Given the description of an element on the screen output the (x, y) to click on. 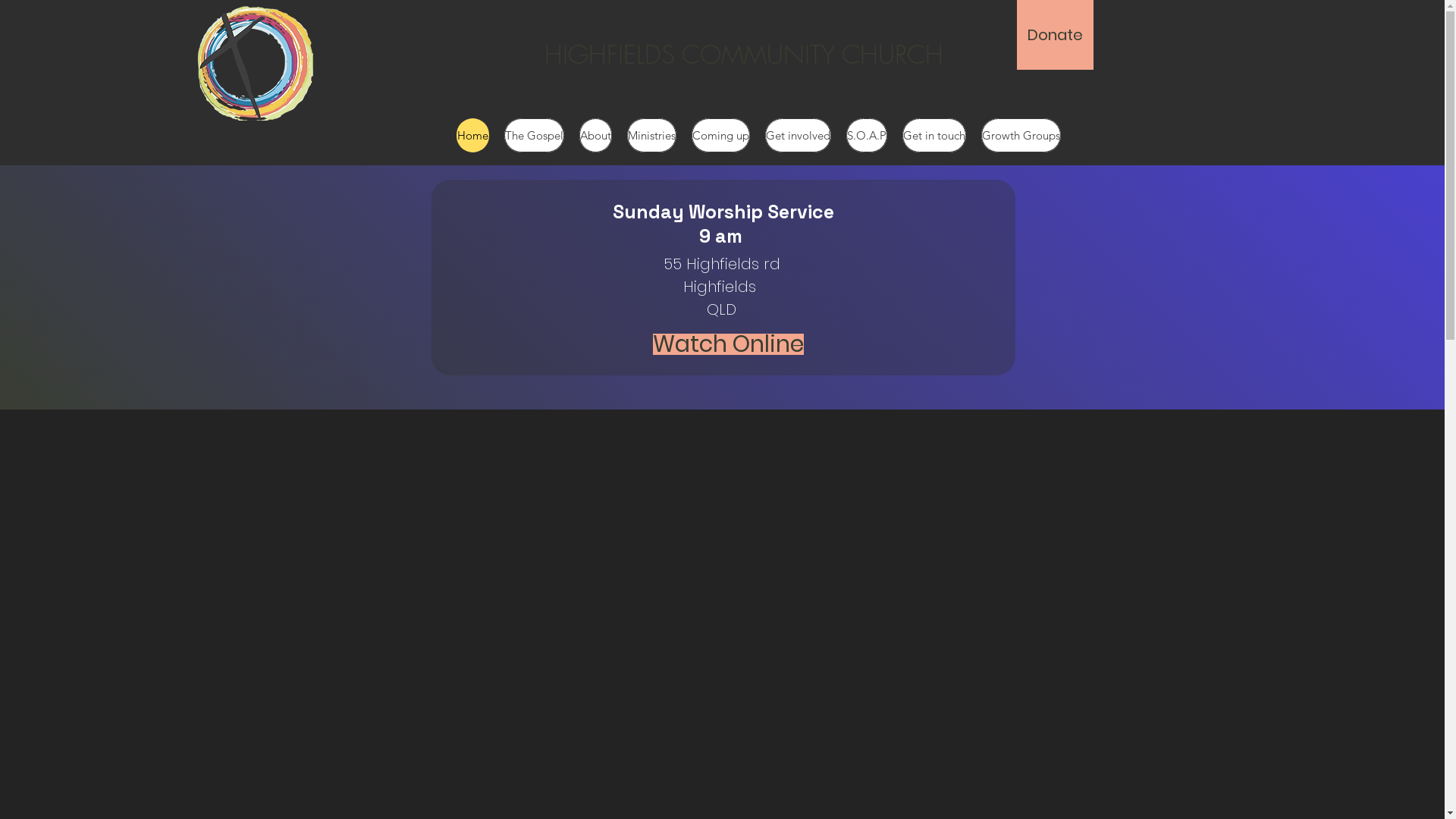
About Element type: text (595, 135)
The Gospel Element type: text (534, 135)
Growth Groups Element type: text (1020, 135)
Get in touch Element type: text (934, 135)
Get involved Element type: text (798, 135)
HIGHFIELDS COMMUNITY CHURCH Element type: text (743, 54)
S.O.A.P Element type: text (866, 135)
Watch Online Element type: text (727, 343)
Ministries Element type: text (651, 135)
Home Element type: text (472, 135)
Coming up Element type: text (720, 135)
Donate Element type: text (1054, 34)
